Given the description of an element on the screen output the (x, y) to click on. 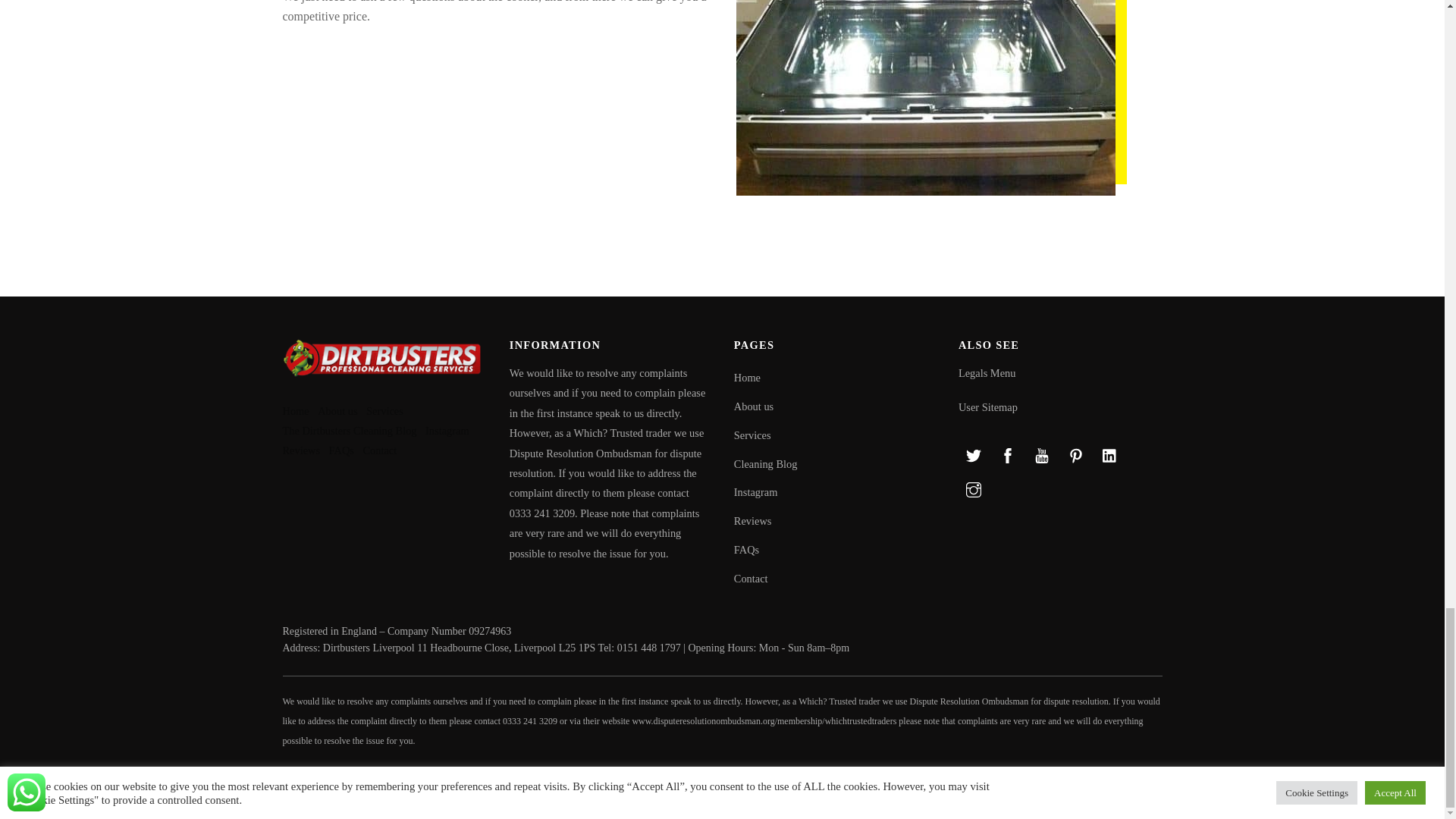
FAQs (745, 549)
Instagram (755, 491)
About us (753, 406)
Home (746, 377)
Legals Menu (987, 372)
Services (752, 435)
Cleaning Blog (765, 463)
Contact (750, 578)
The Dirtbusters Cleaning Blog (349, 430)
About us (336, 410)
